Given the description of an element on the screen output the (x, y) to click on. 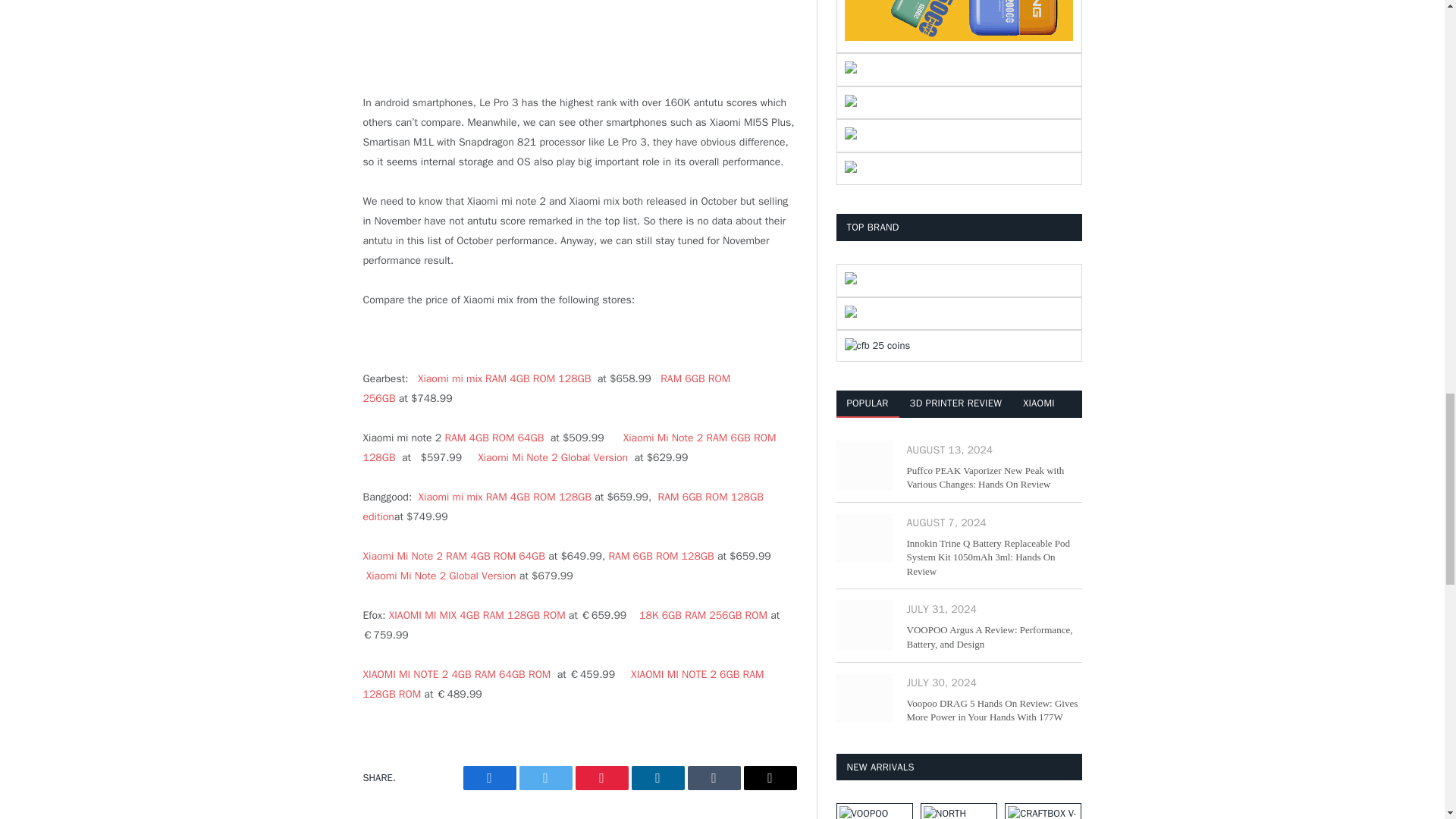
Share on Twitter (545, 777)
Share on Facebook (489, 777)
Share on Pinterest (601, 777)
